Given the description of an element on the screen output the (x, y) to click on. 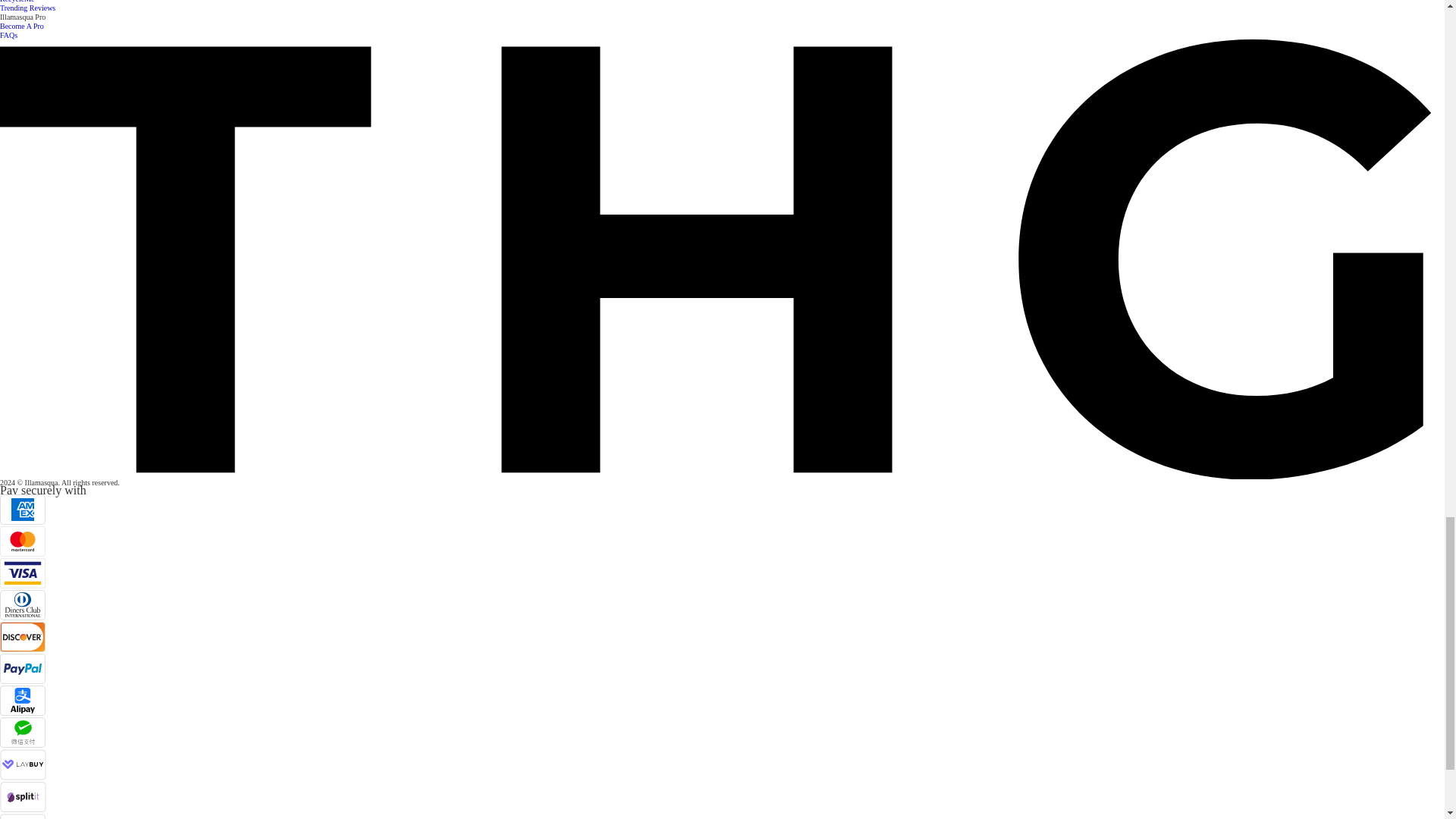
WeChat Pay (22, 732)
Discover (22, 636)
PayPal (22, 668)
Visa (22, 572)
Mastercard (22, 541)
Alipay (22, 700)
AMEX (22, 509)
Diners (22, 604)
